Given the description of an element on the screen output the (x, y) to click on. 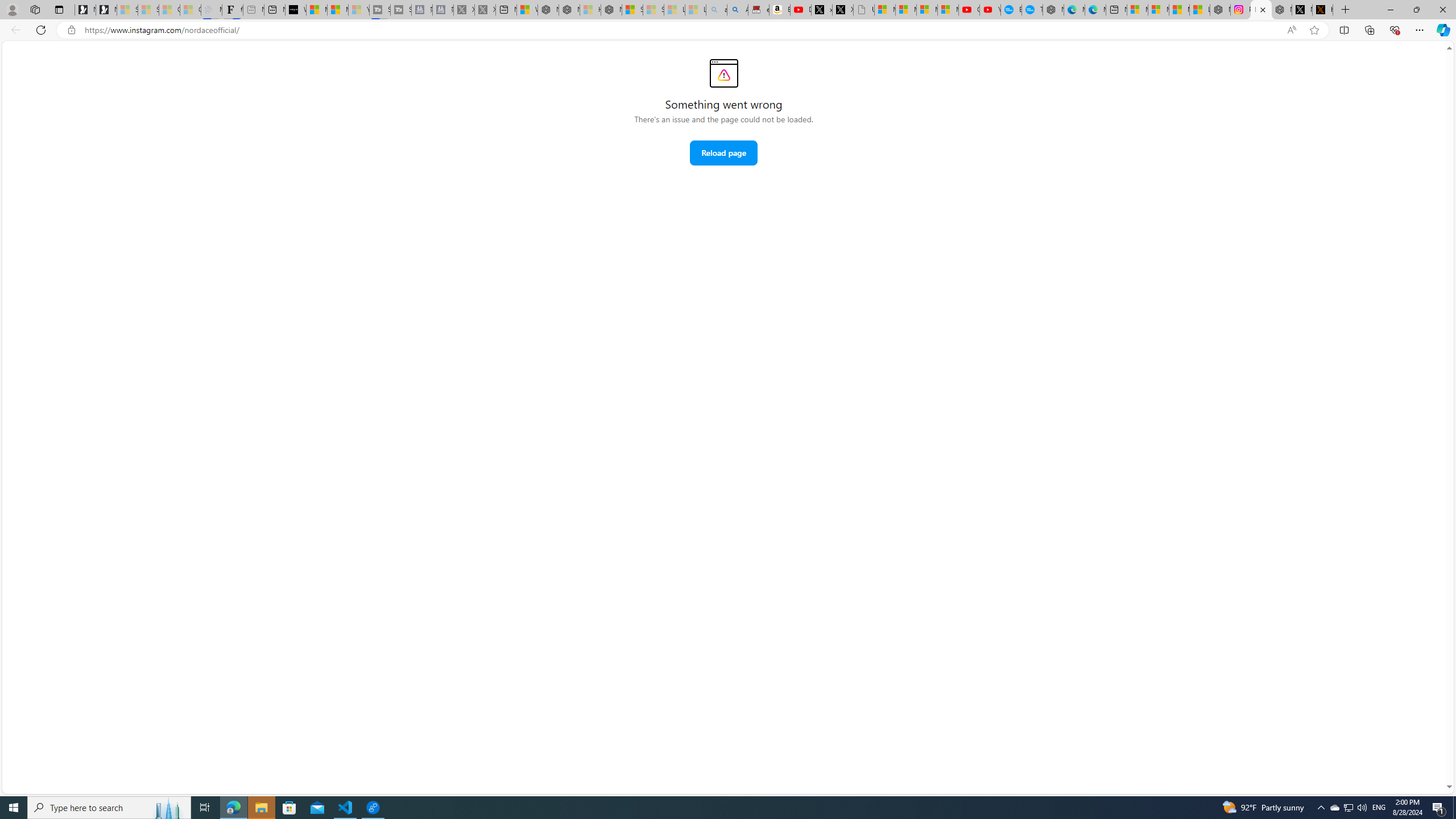
Error (723, 72)
Nordace - Nordace Siena Is Not An Ordinary Backpack (610, 9)
